Given the description of an element on the screen output the (x, y) to click on. 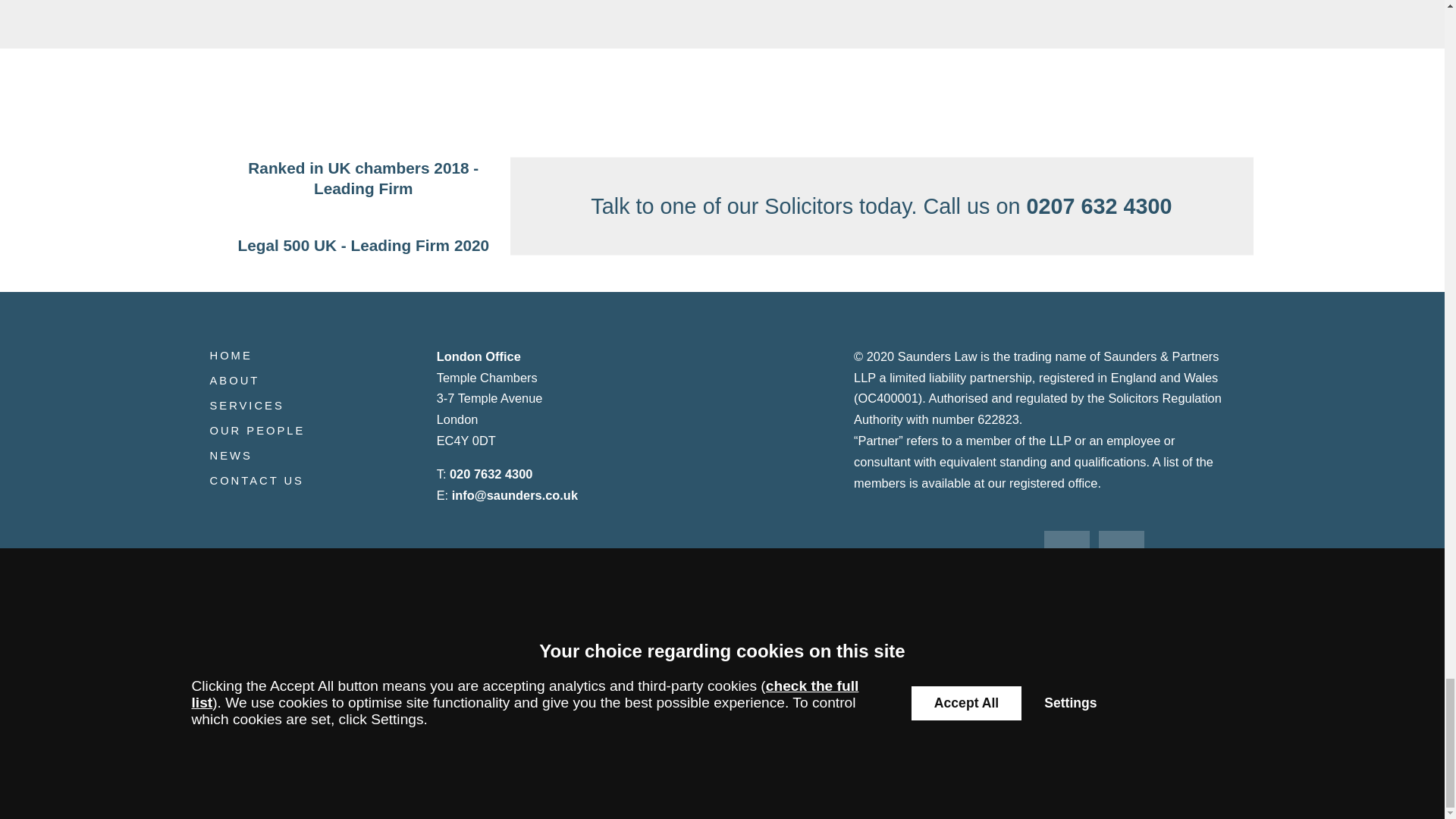
Search the site (1086, 704)
